Given the description of an element on the screen output the (x, y) to click on. 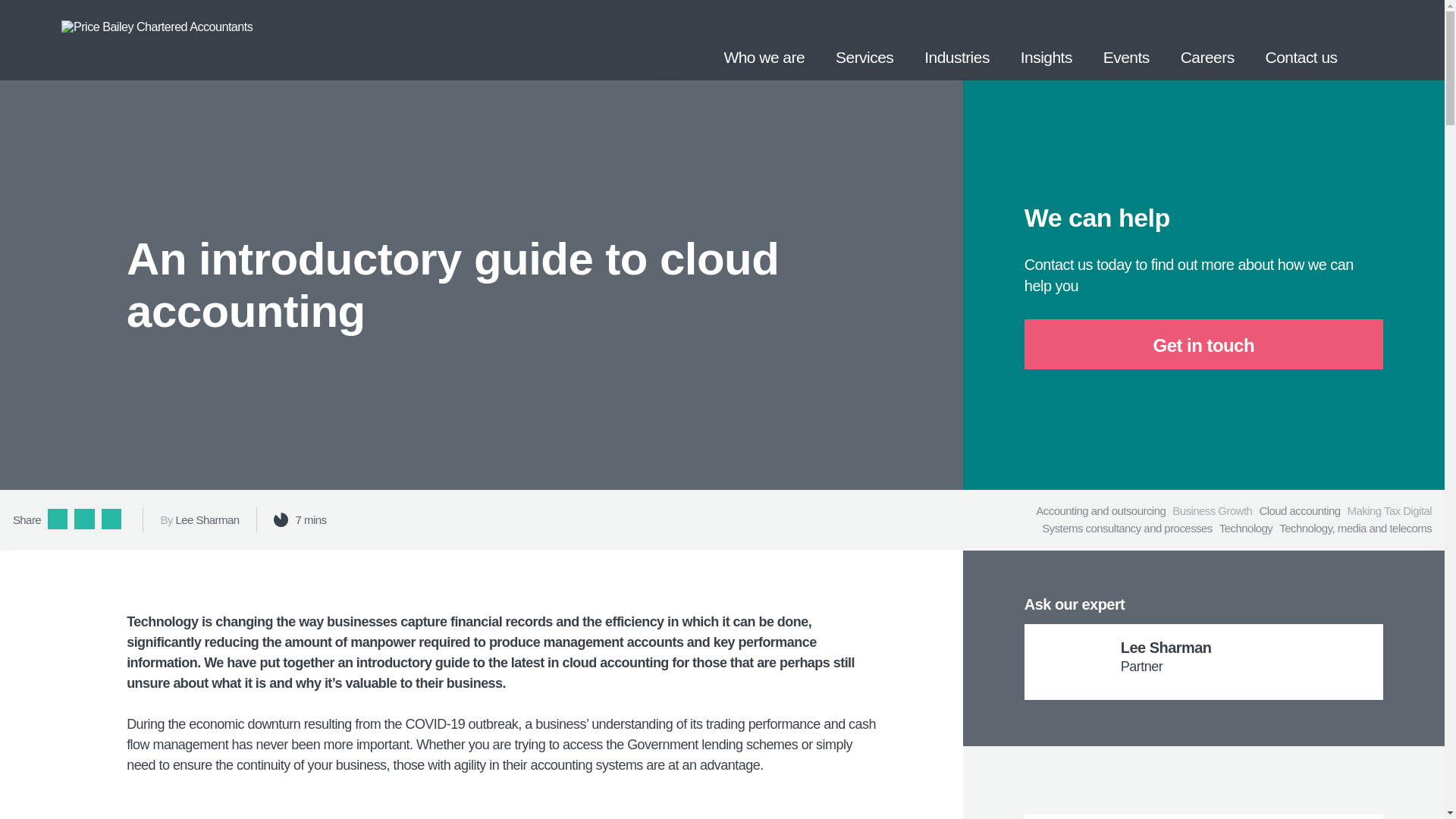
Contact us (1300, 40)
Careers (1206, 40)
Services (864, 40)
Events (1125, 40)
Industries (957, 40)
Insights (1045, 40)
Who we are (764, 40)
